Given the description of an element on the screen output the (x, y) to click on. 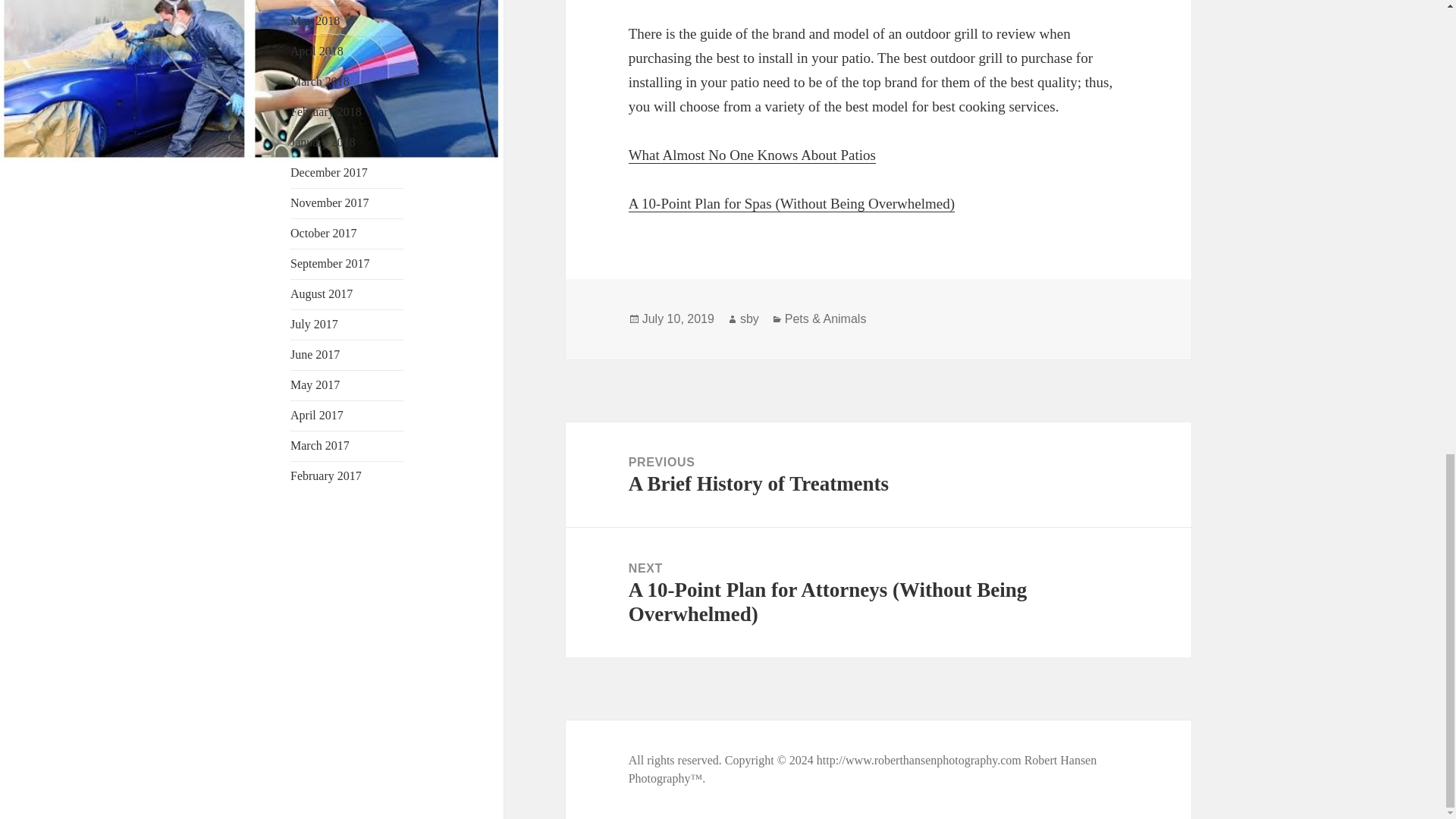
August 2017 (320, 293)
March 2018 (319, 81)
February 2018 (325, 111)
April 2017 (316, 414)
October 2017 (322, 232)
March 2017 (319, 445)
December 2017 (878, 474)
November 2017 (328, 172)
May 2018 (329, 202)
June 2017 (314, 20)
What Almost No One Knows About Patios (314, 354)
January 2018 (752, 155)
April 2018 (322, 141)
July 10, 2019 (316, 51)
